Given the description of an element on the screen output the (x, y) to click on. 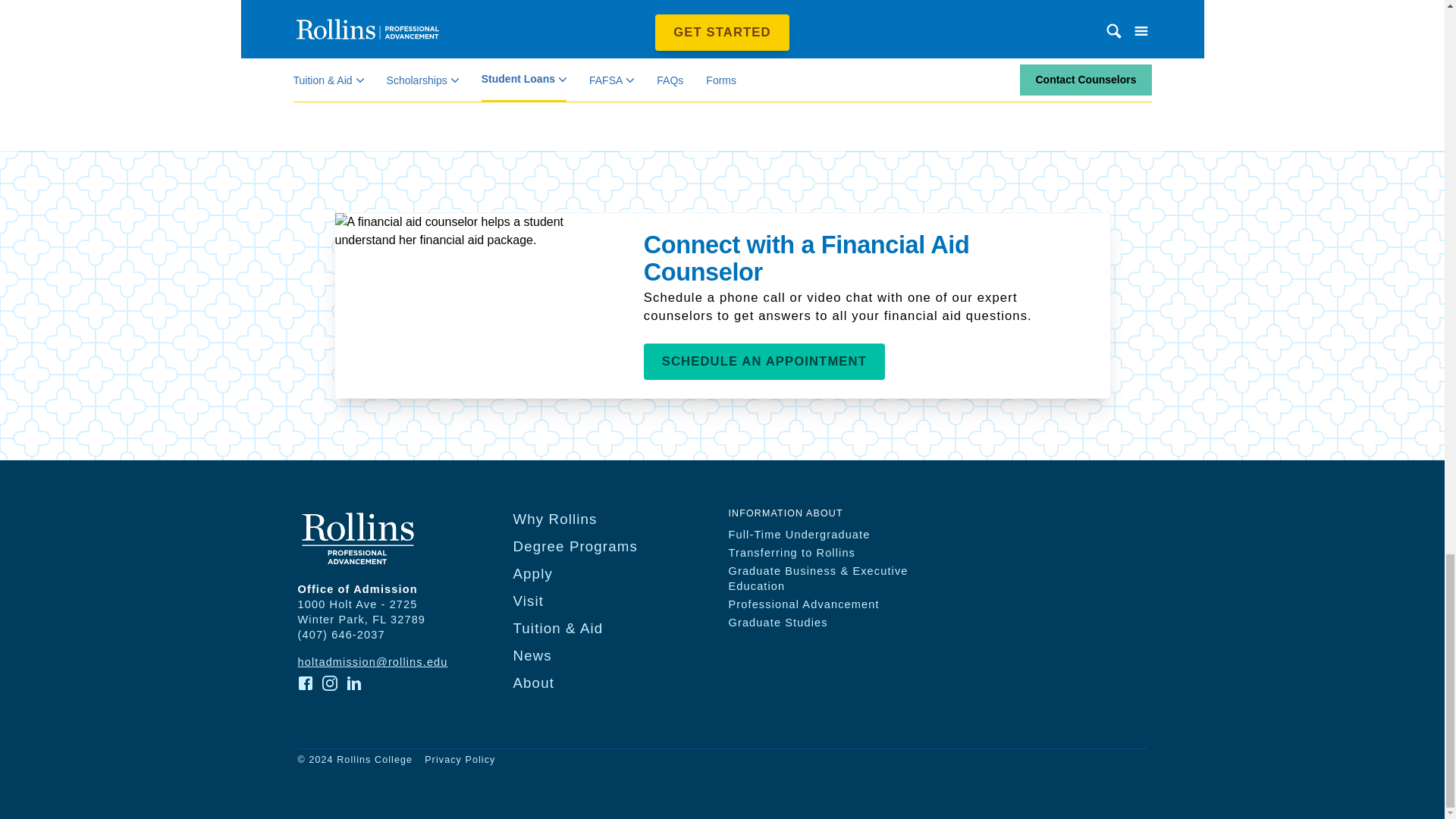
Visit (527, 600)
Degree Programs (574, 546)
SCHEDULE AN APPOINTMENT (764, 361)
Why Rollins (554, 519)
Apply (531, 573)
GET STARTED (722, 32)
